Given the description of an element on the screen output the (x, y) to click on. 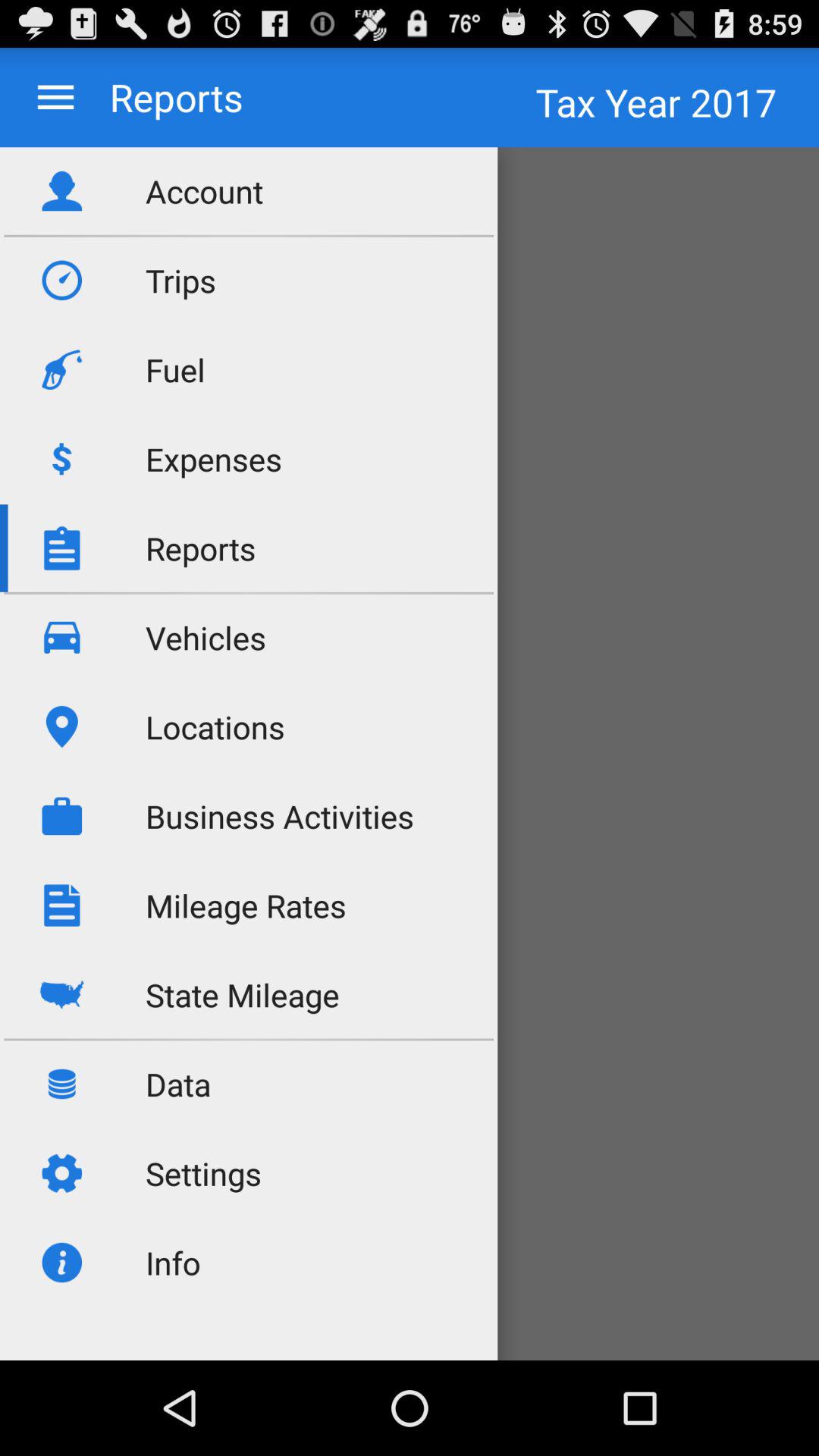
choose the item at the bottom (409, 1278)
